Given the description of an element on the screen output the (x, y) to click on. 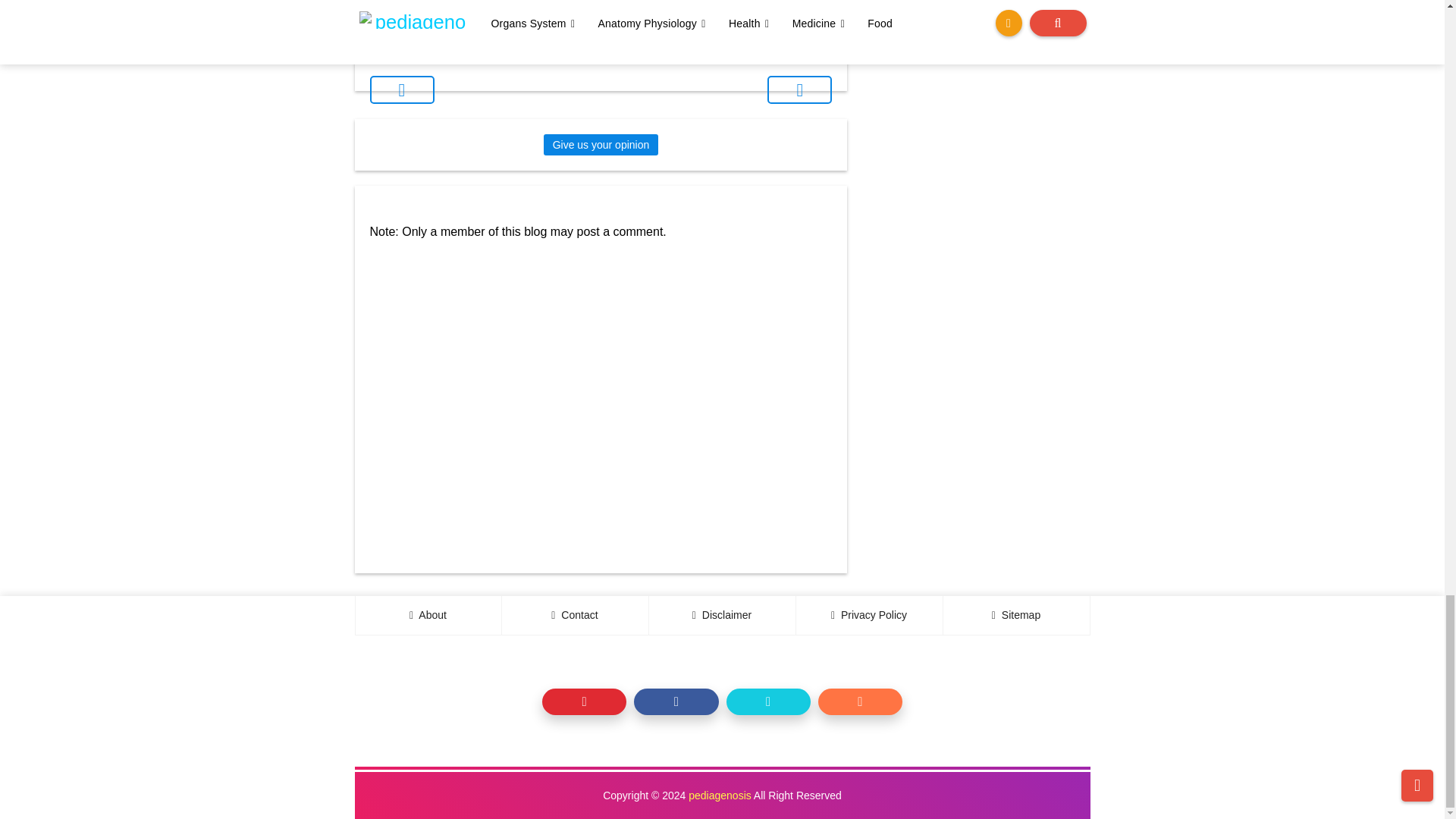
Older Post (799, 90)
Newer Post (401, 90)
